Given the description of an element on the screen output the (x, y) to click on. 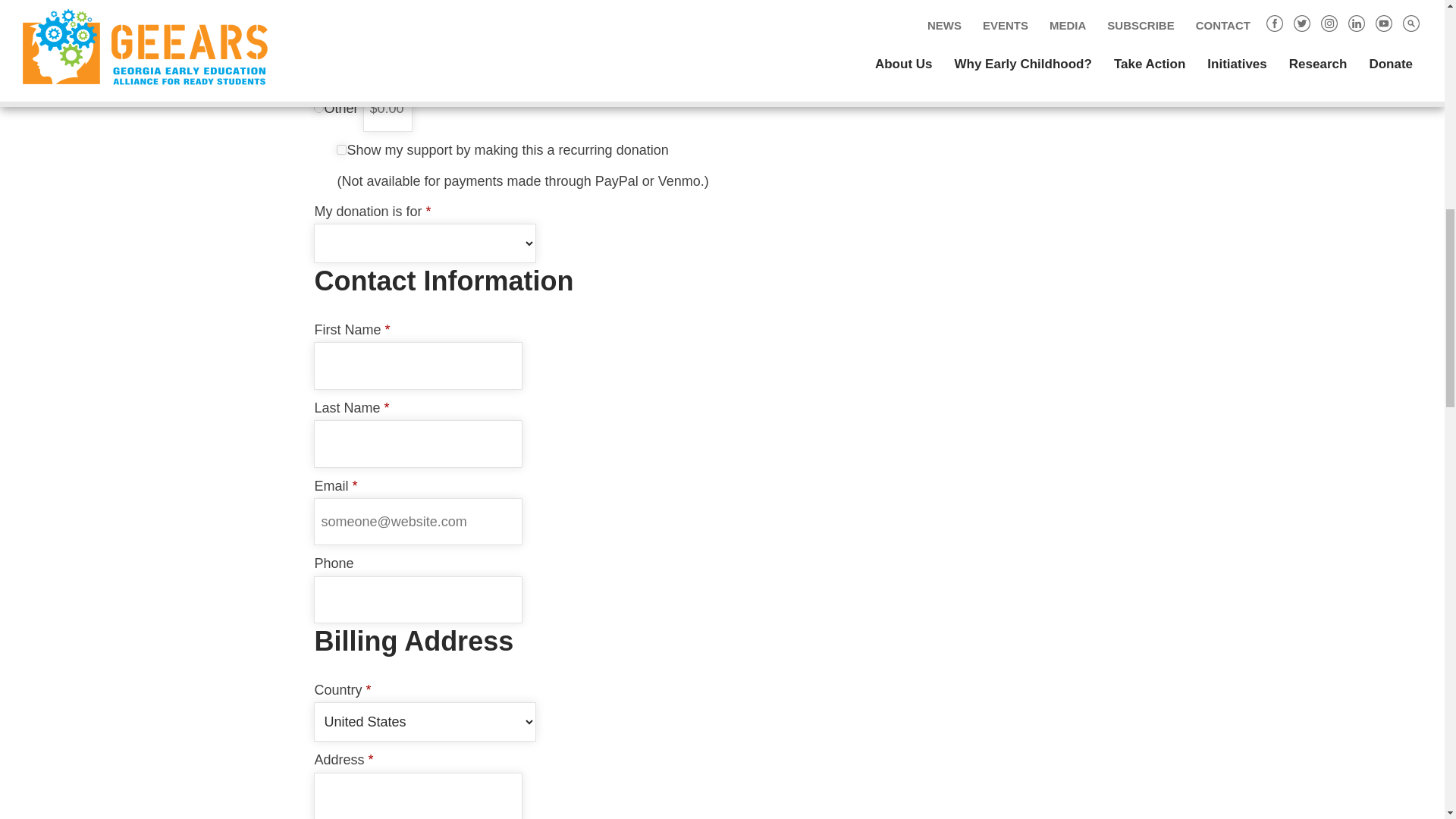
500.000000 (318, 66)
375.000000 (318, 35)
on (318, 108)
250.000000 (318, 4)
on (341, 149)
